Given the description of an element on the screen output the (x, y) to click on. 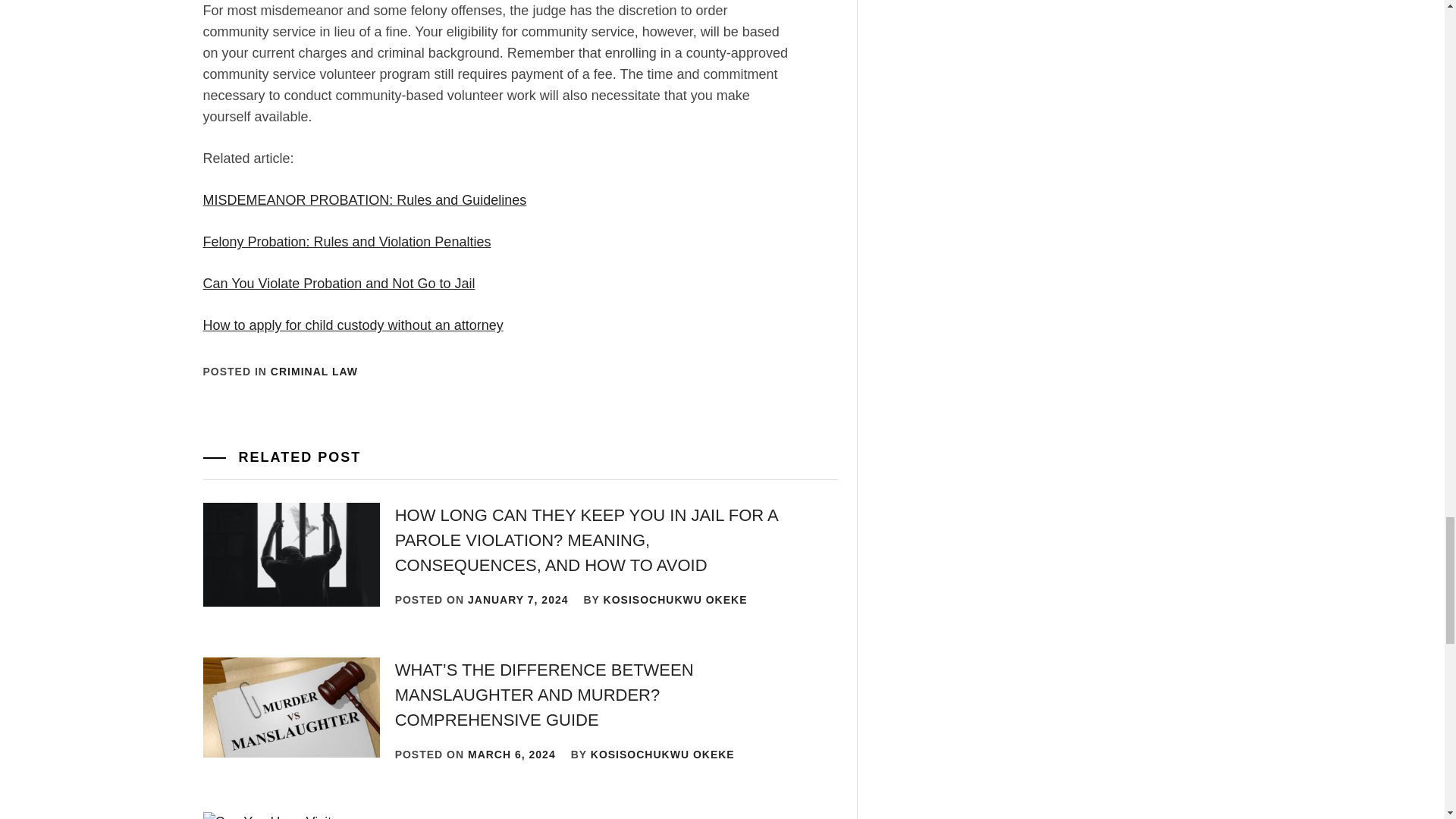
JANUARY 7, 2024 (518, 599)
MARCH 6, 2024 (511, 754)
Can You Violate Probation and Not Go to Jail (339, 283)
KOSISOCHUKWU OKEKE (663, 754)
How to apply for child custody without an attorney (353, 324)
MISDEMEANOR PROBATION: Rules and Guidelines (365, 200)
CRIMINAL LAW (314, 371)
KOSISOCHUKWU OKEKE (676, 599)
